Given the description of an element on the screen output the (x, y) to click on. 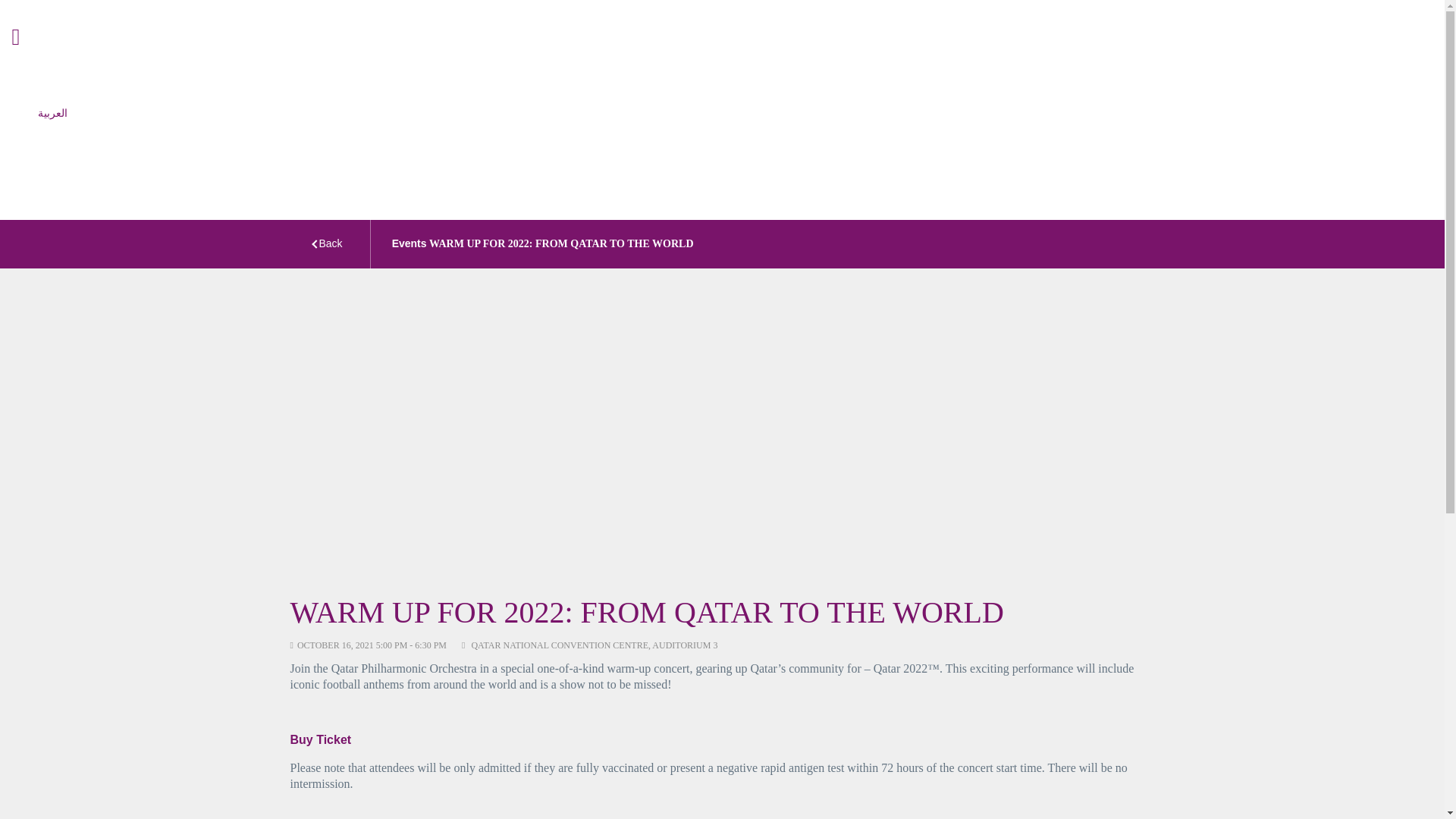
Buy Ticket (319, 739)
Events (408, 243)
Back (330, 243)
